Given the description of an element on the screen output the (x, y) to click on. 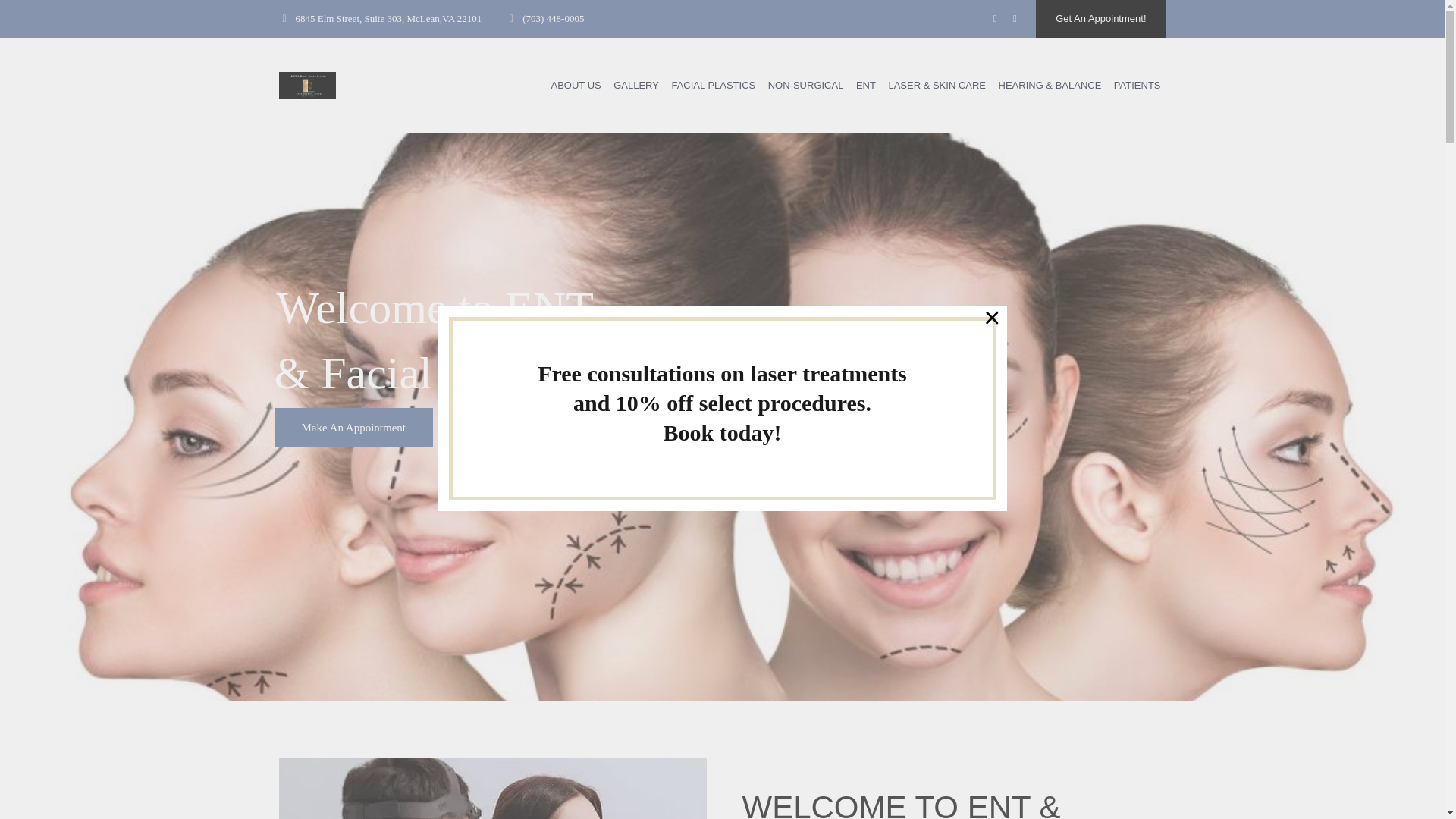
Get An Appointment! (1100, 18)
FACIAL PLASTICS (712, 84)
